Given the description of an element on the screen output the (x, y) to click on. 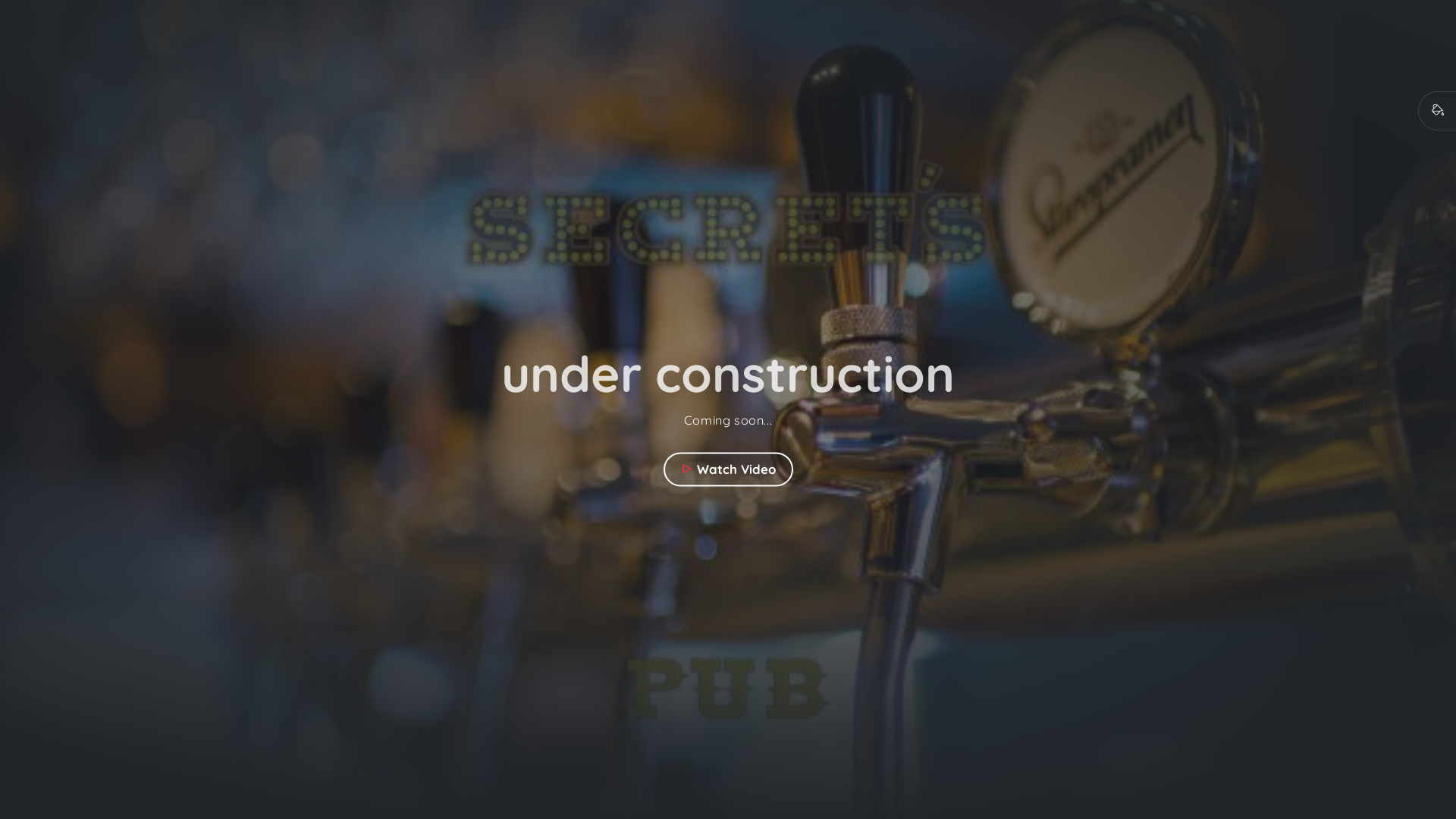
Watch Video Element type: text (727, 468)
